Given the description of an element on the screen output the (x, y) to click on. 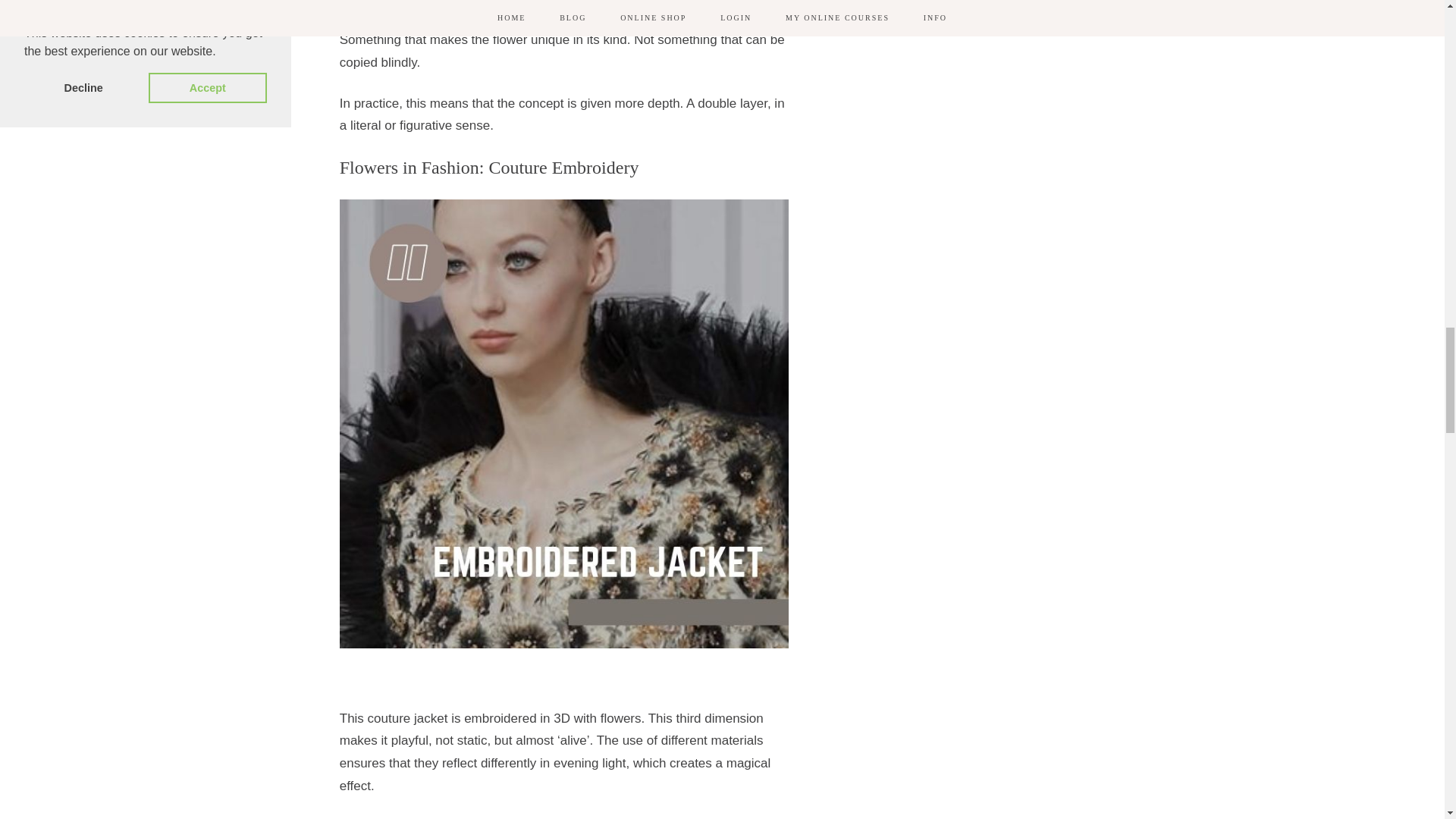
Something is being done with it (672, 17)
